Given the description of an element on the screen output the (x, y) to click on. 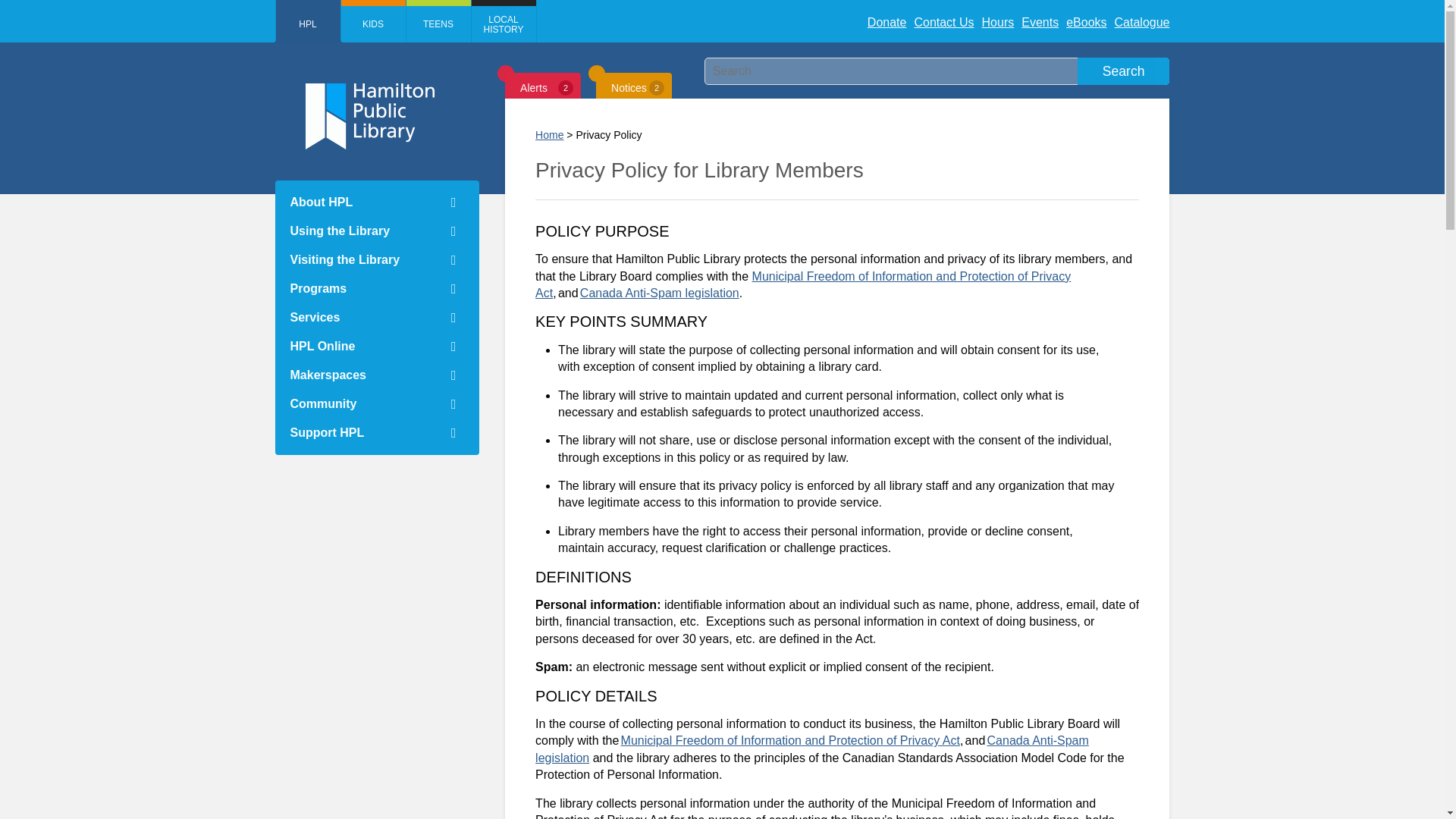
LOCAL HISTORY (503, 21)
Contact Us (944, 22)
Catalogue (1142, 21)
Canada Anti-Spam legislation (659, 292)
TEENS (438, 21)
Search (1123, 71)
Events (1040, 21)
Donate (887, 21)
Canada Anti-Spam legislation (812, 748)
About HPL (376, 202)
KIDS (373, 21)
eBooks (1085, 22)
Home (549, 134)
